Given the description of an element on the screen output the (x, y) to click on. 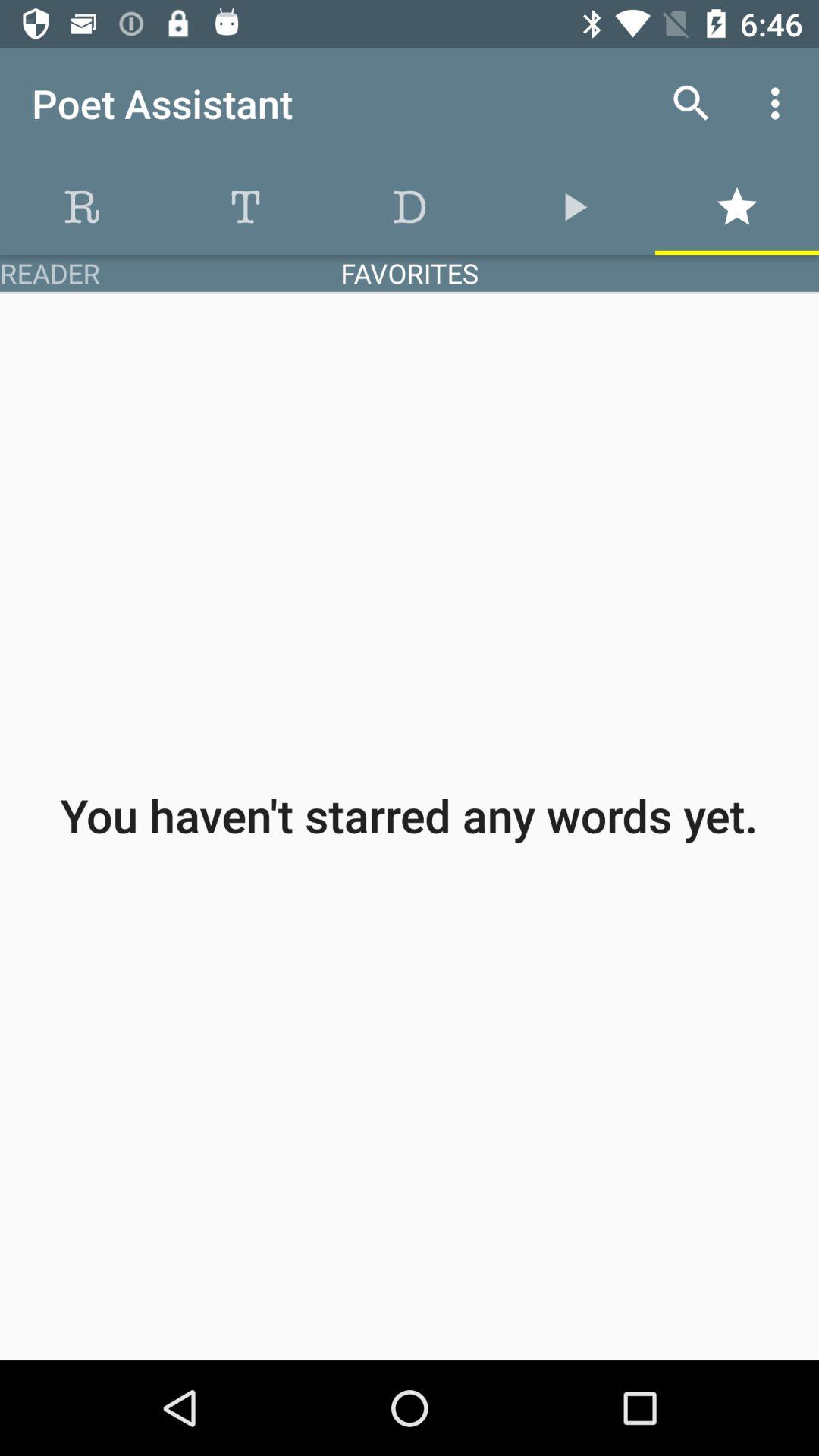
select icon next to poet assistant icon (691, 103)
